Given the description of an element on the screen output the (x, y) to click on. 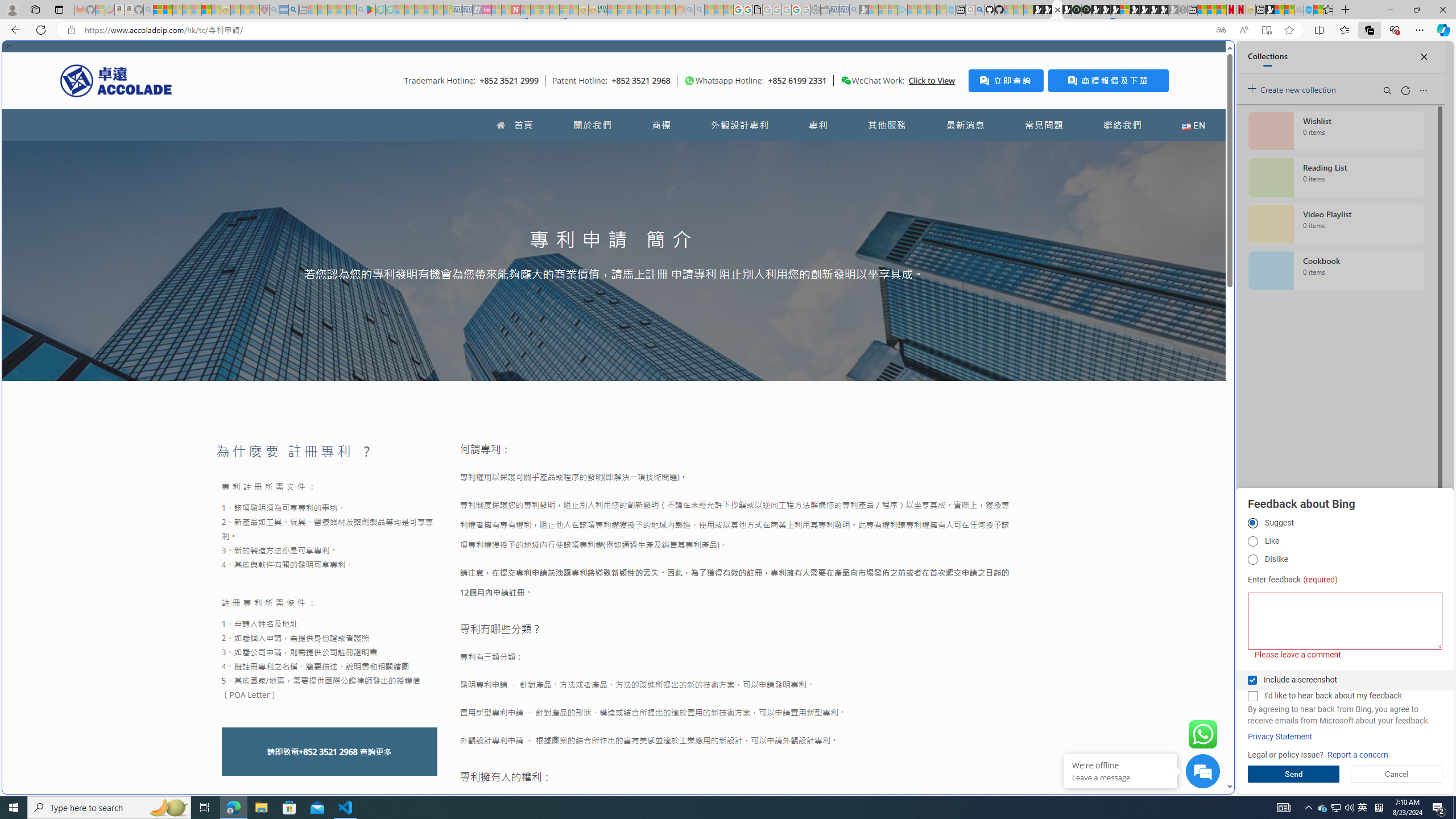
Future Focus Report 2024 (1085, 9)
Play Cave FRVR in your browser | Games from Microsoft Start (1105, 9)
Tabs you've opened (885, 151)
Accolade IP HK Logo (116, 80)
